Given the description of an element on the screen output the (x, y) to click on. 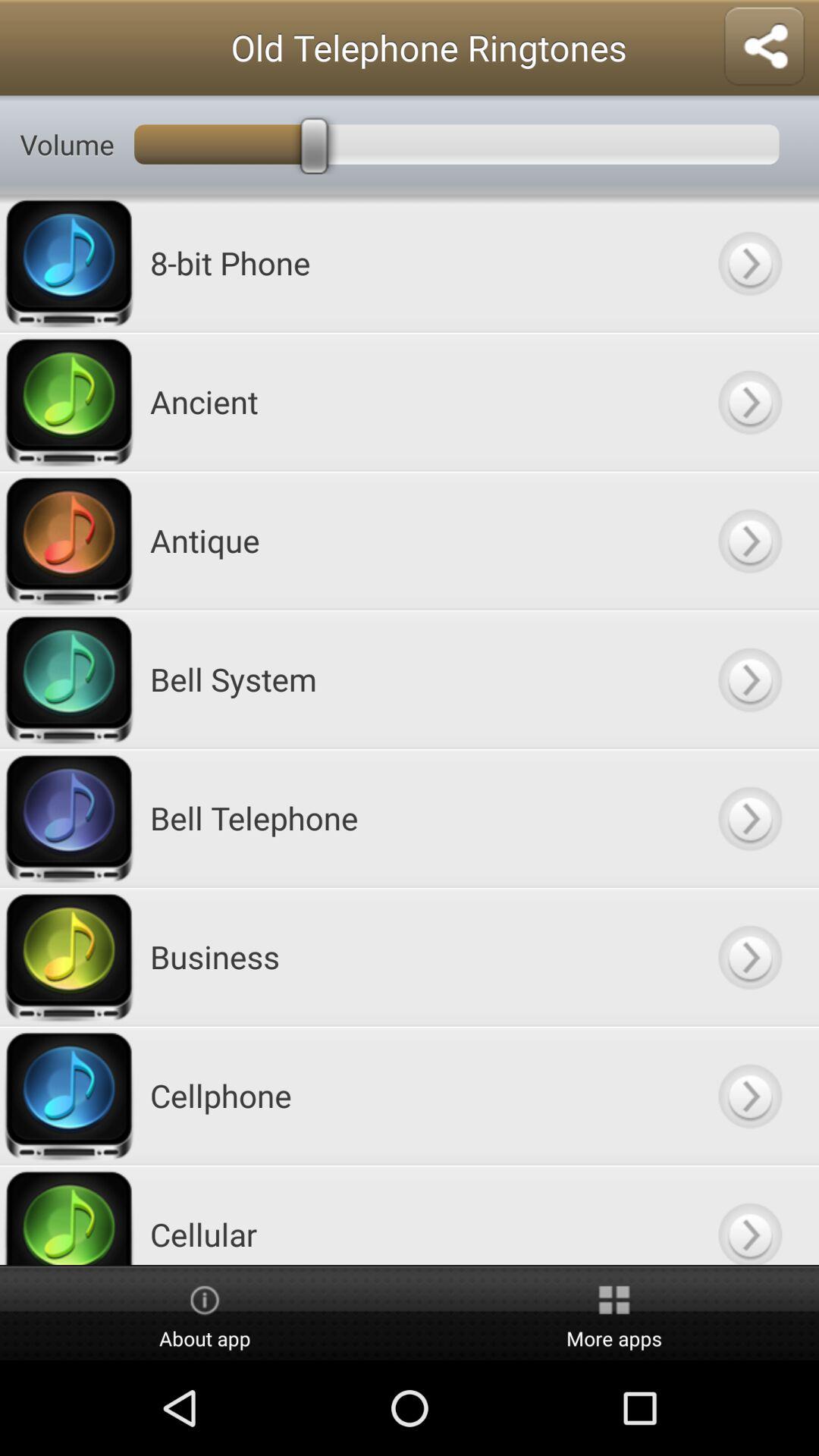
goto next (749, 1214)
